Given the description of an element on the screen output the (x, y) to click on. 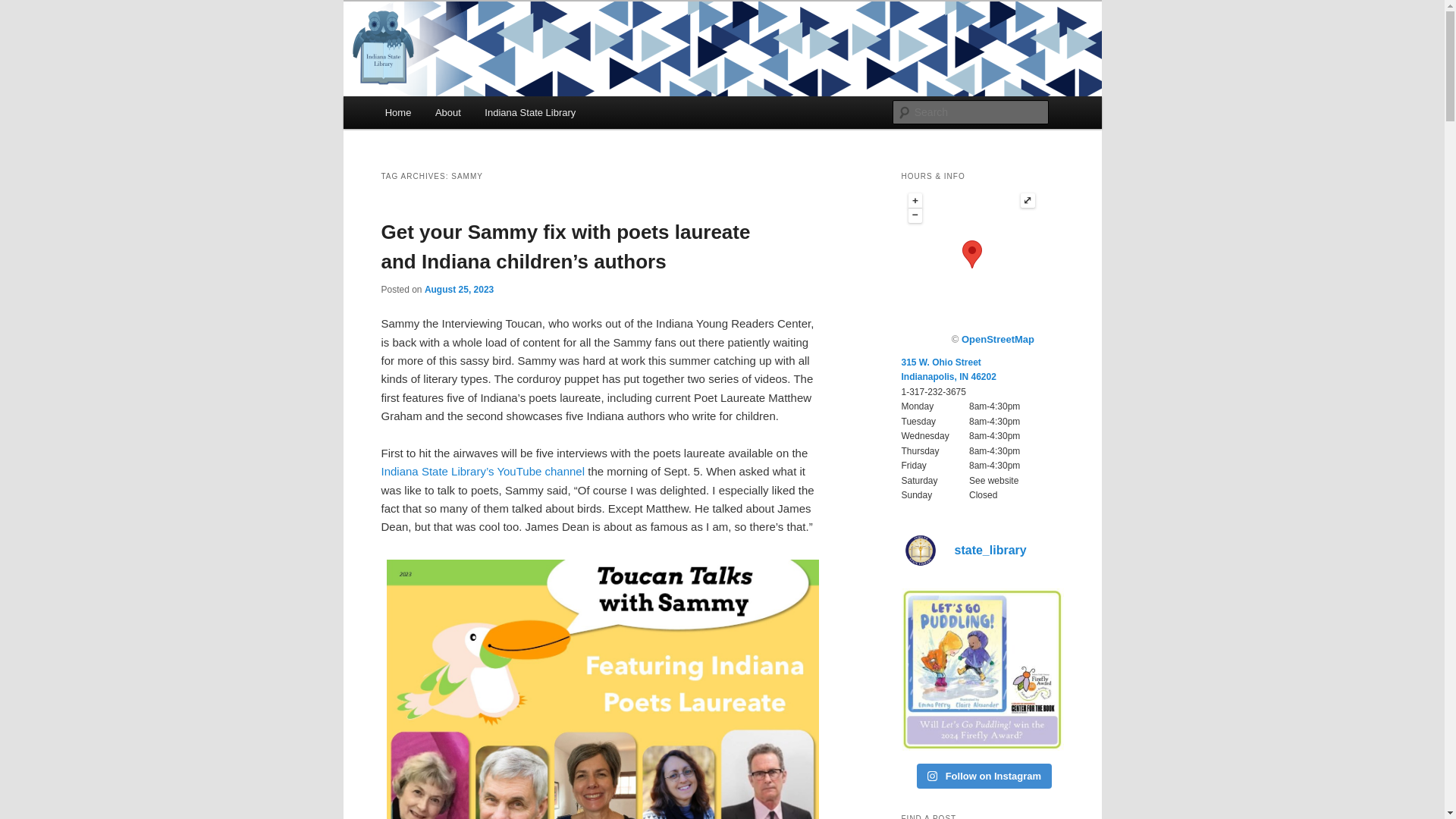
About (447, 112)
Zoom in (915, 200)
Home (397, 112)
Toggle full-screen (1027, 200)
Zoom out (915, 215)
August 25, 2023 (459, 289)
Search (24, 8)
Indiana State Library (513, 56)
10:46 am (459, 289)
Indiana State Library (530, 112)
